Given the description of an element on the screen output the (x, y) to click on. 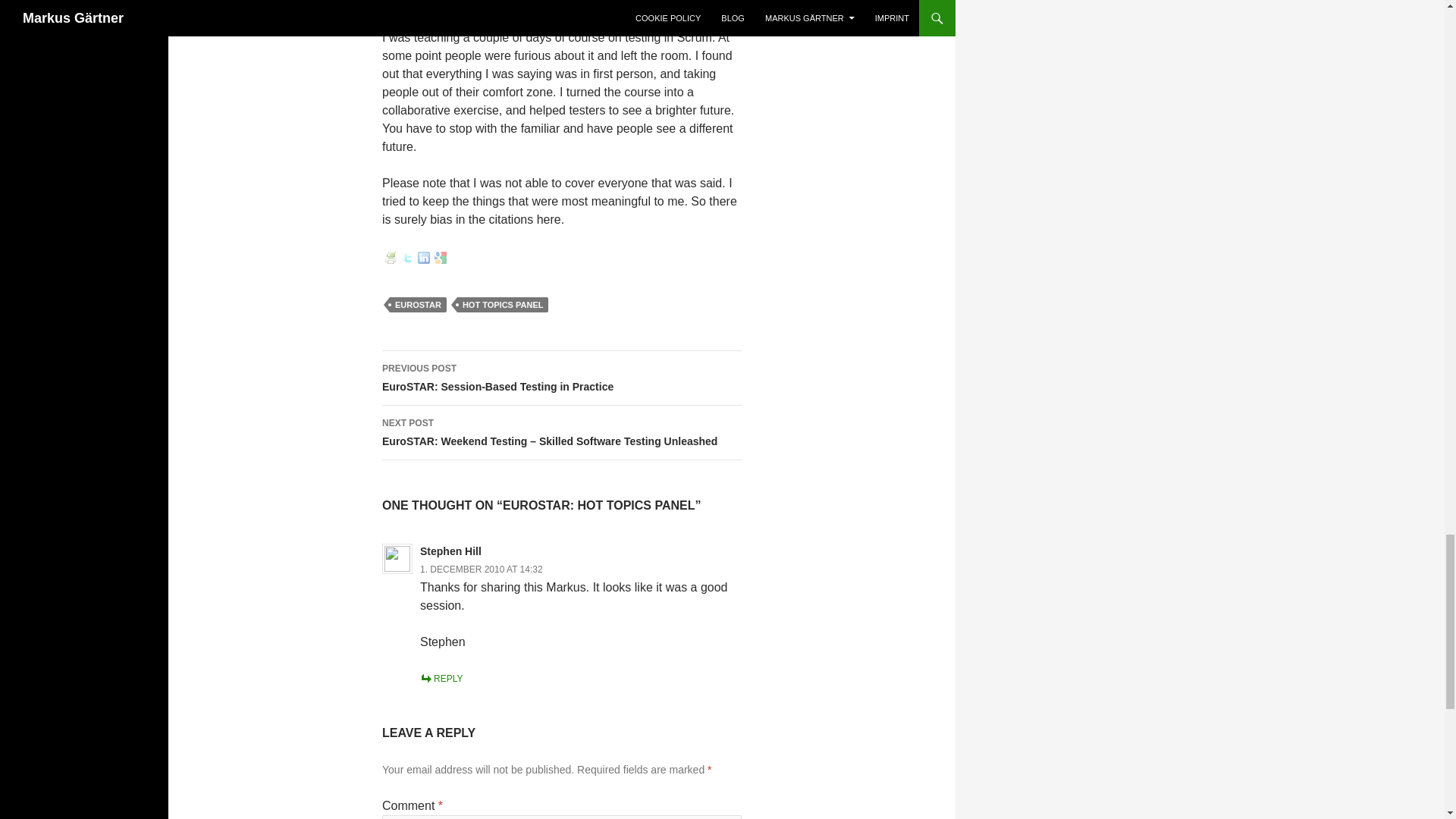
EUROSTAR (418, 304)
Twitter (406, 257)
Print (389, 257)
1. DECEMBER 2010 AT 14:32 (481, 569)
Stephen Hill (450, 551)
REPLY (441, 678)
LinkedIn (423, 257)
Google Bookmarks (561, 378)
HOT TOPICS PANEL (440, 257)
